Given the description of an element on the screen output the (x, y) to click on. 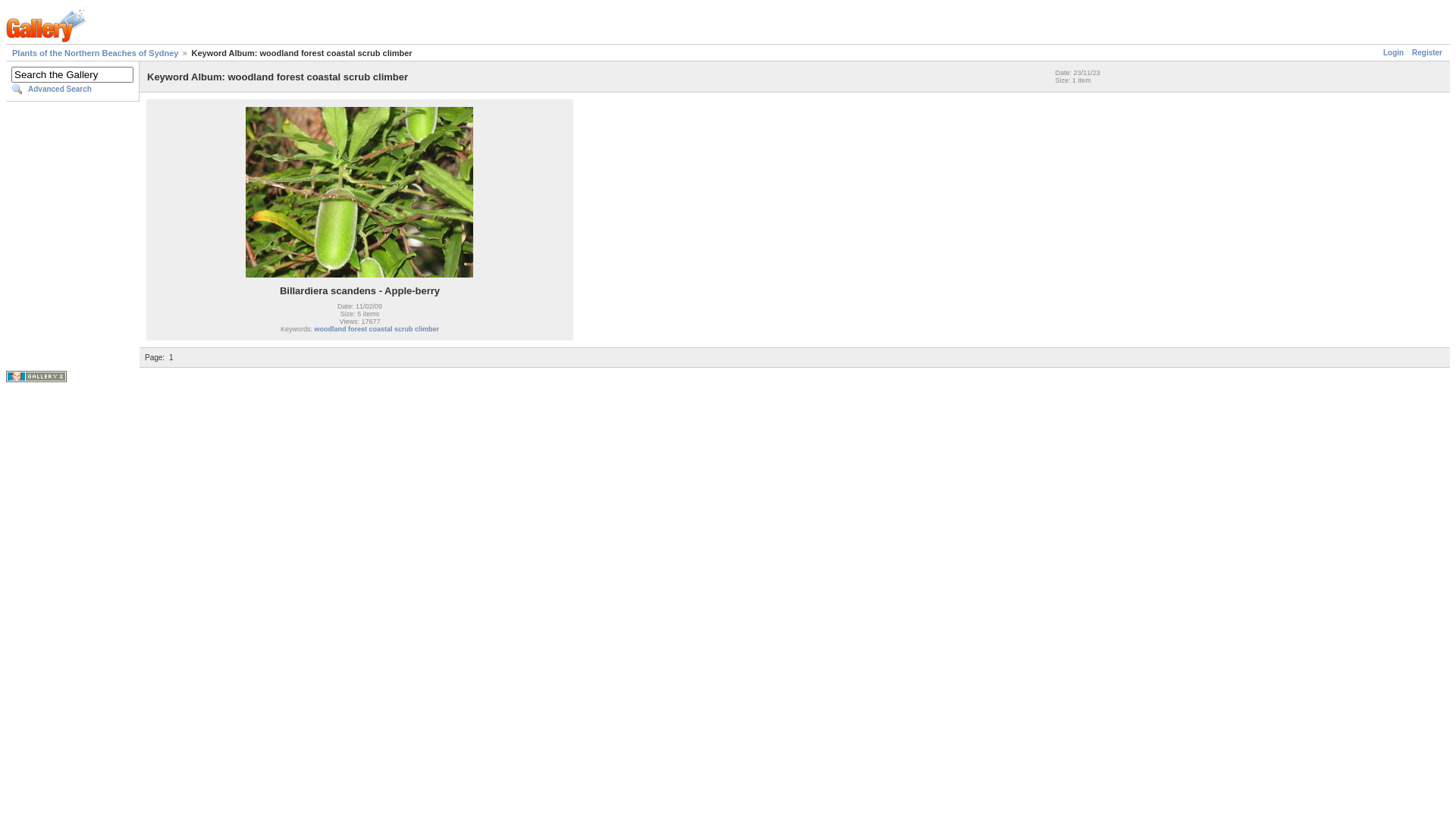
Login Element type: text (1393, 52)
Powered by Gallery v2.2 Element type: hover (36, 376)
Plants of the Northern Beaches of Sydney Element type: text (95, 52)
Advanced Search Element type: text (72, 88)
woodland forest coastal scrub climber Element type: text (376, 328)
Register Element type: text (1427, 52)
